Given the description of an element on the screen output the (x, y) to click on. 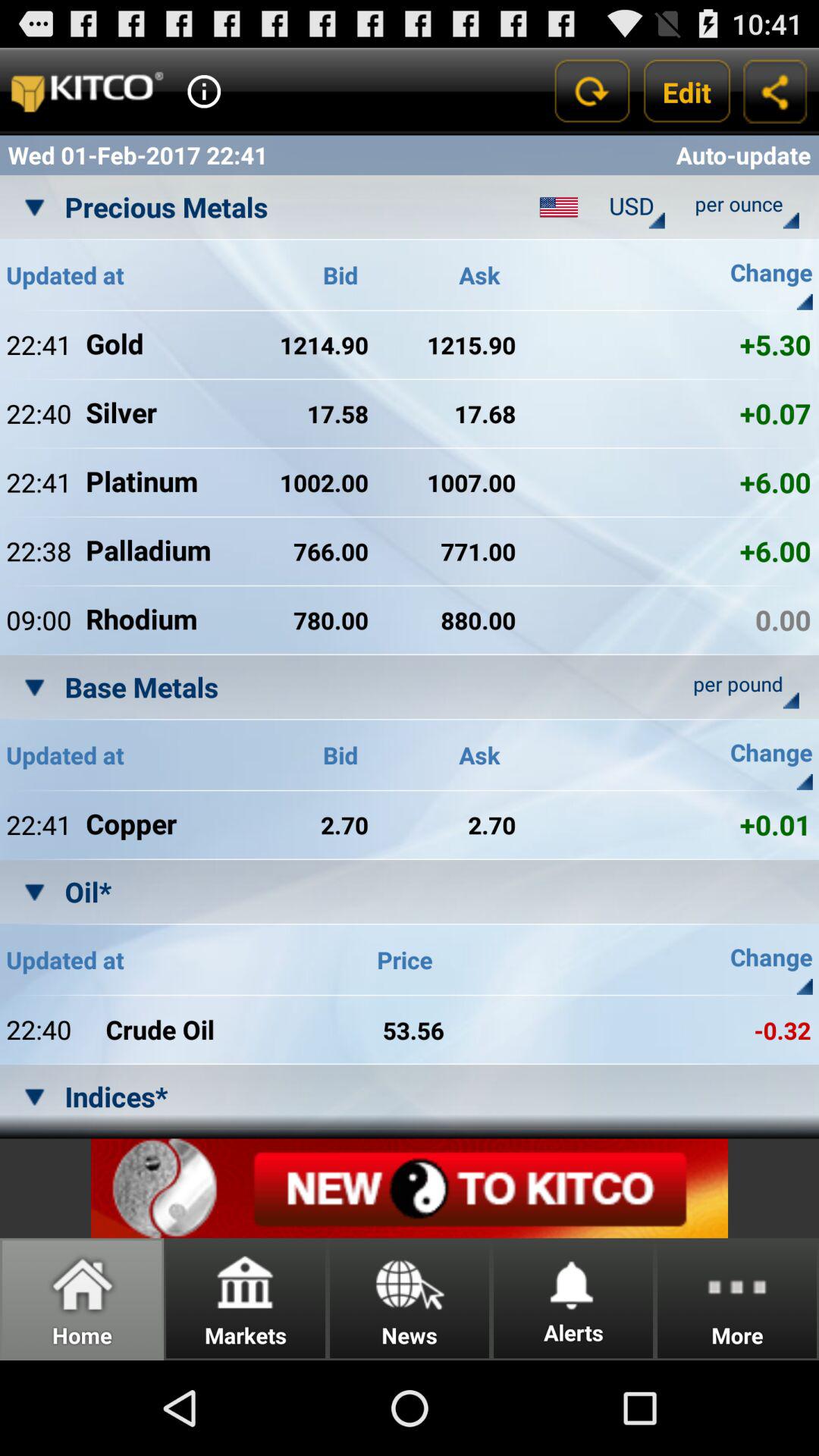
choose the app above auto-update (686, 91)
